Given the description of an element on the screen output the (x, y) to click on. 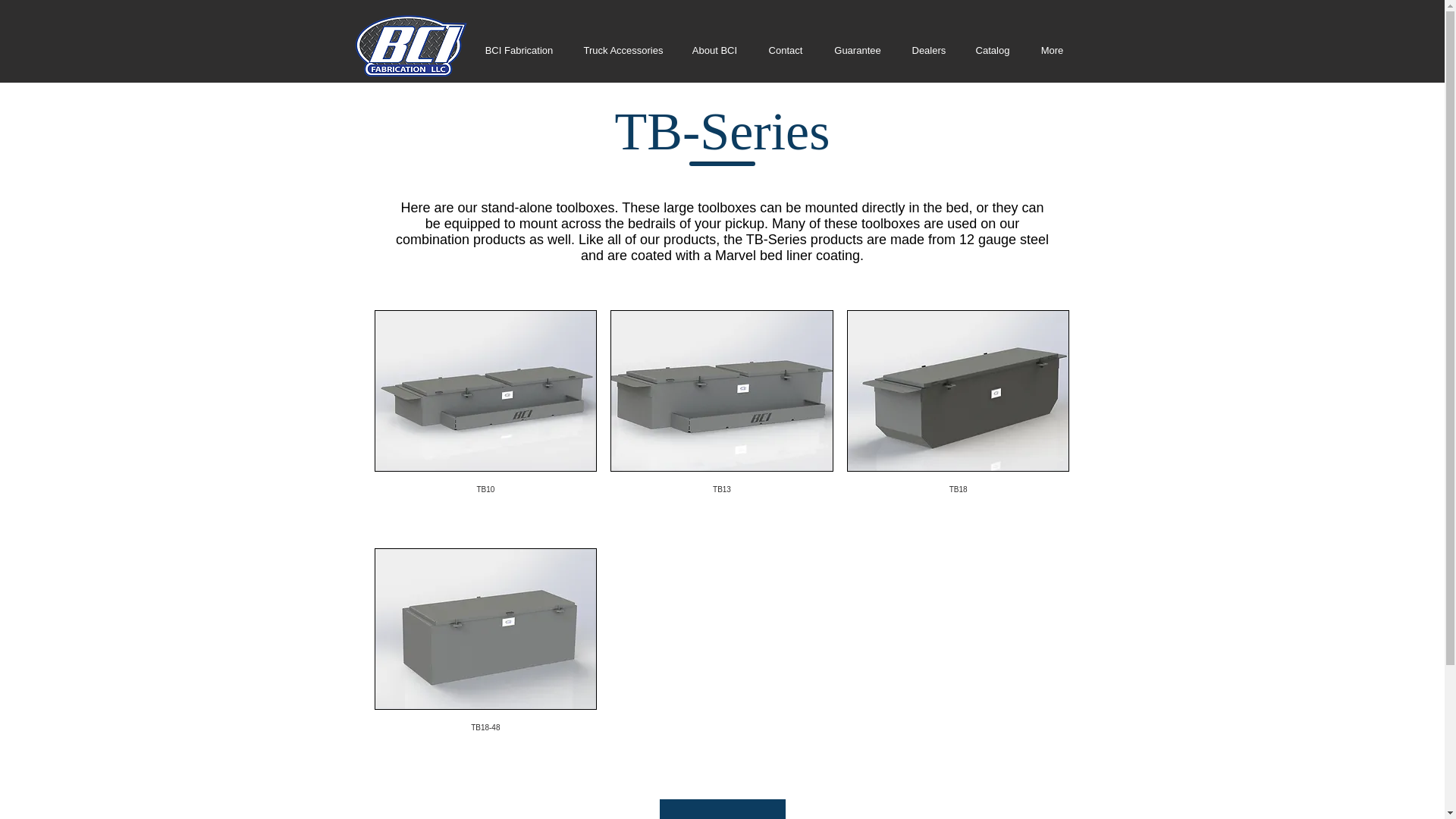
TB13 (721, 422)
Guarantee (857, 50)
Dealers (927, 50)
Contact (785, 50)
Catalog (992, 50)
Truck Accessories (623, 50)
LOGO.png (409, 46)
BCI Fabrication (519, 50)
TB10 (485, 422)
TB18-48 (485, 660)
About BCI (714, 50)
TB18 (958, 422)
